Given the description of an element on the screen output the (x, y) to click on. 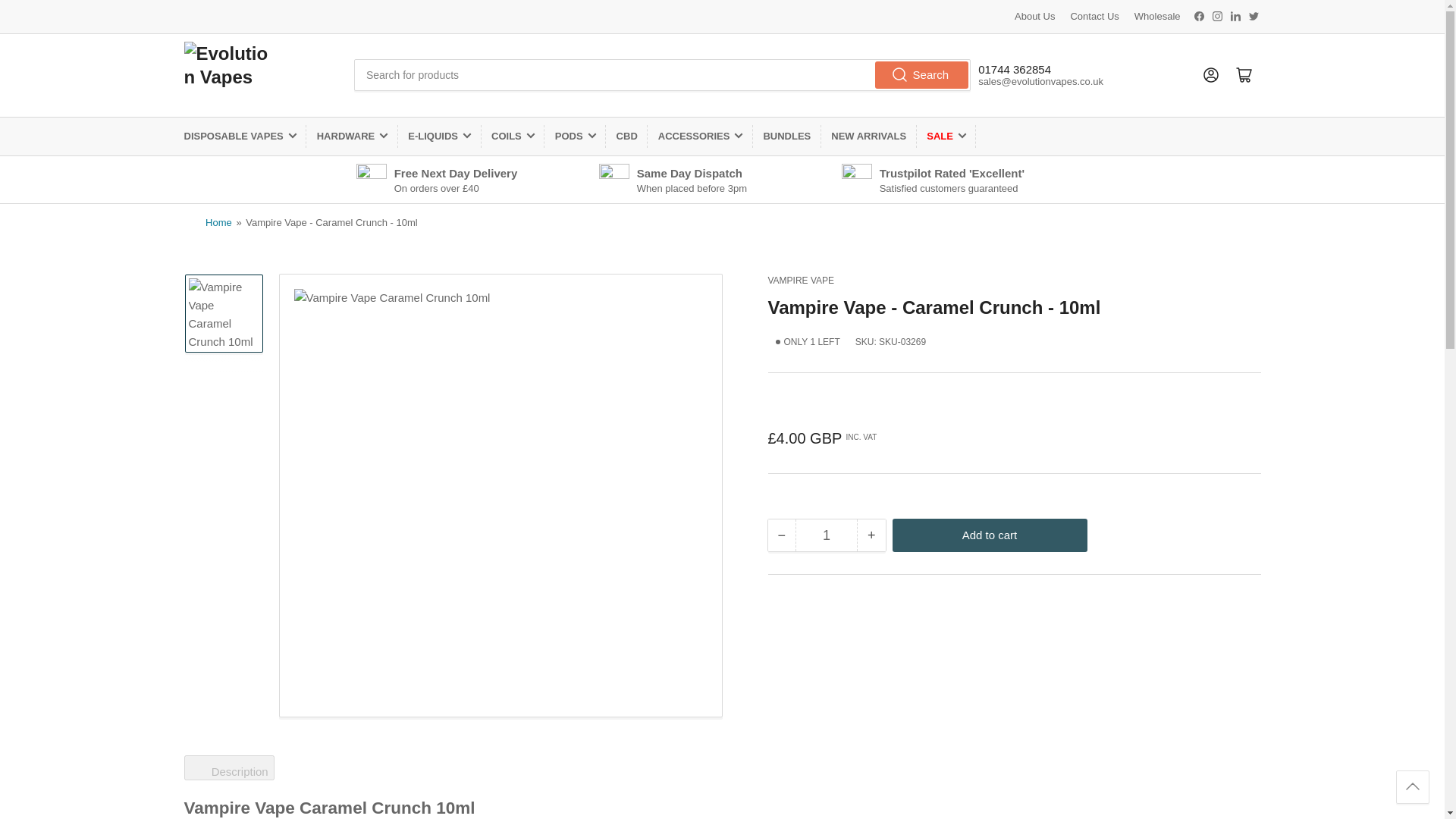
Vampire Vape (800, 280)
Twitter (1253, 15)
Facebook (1199, 15)
Log in (1210, 74)
Open mini cart (1243, 74)
LinkedIn (1235, 15)
Instagram (1216, 15)
About Us (1034, 16)
Contact Us (1094, 16)
Wholesale (1157, 16)
